Given the description of an element on the screen output the (x, y) to click on. 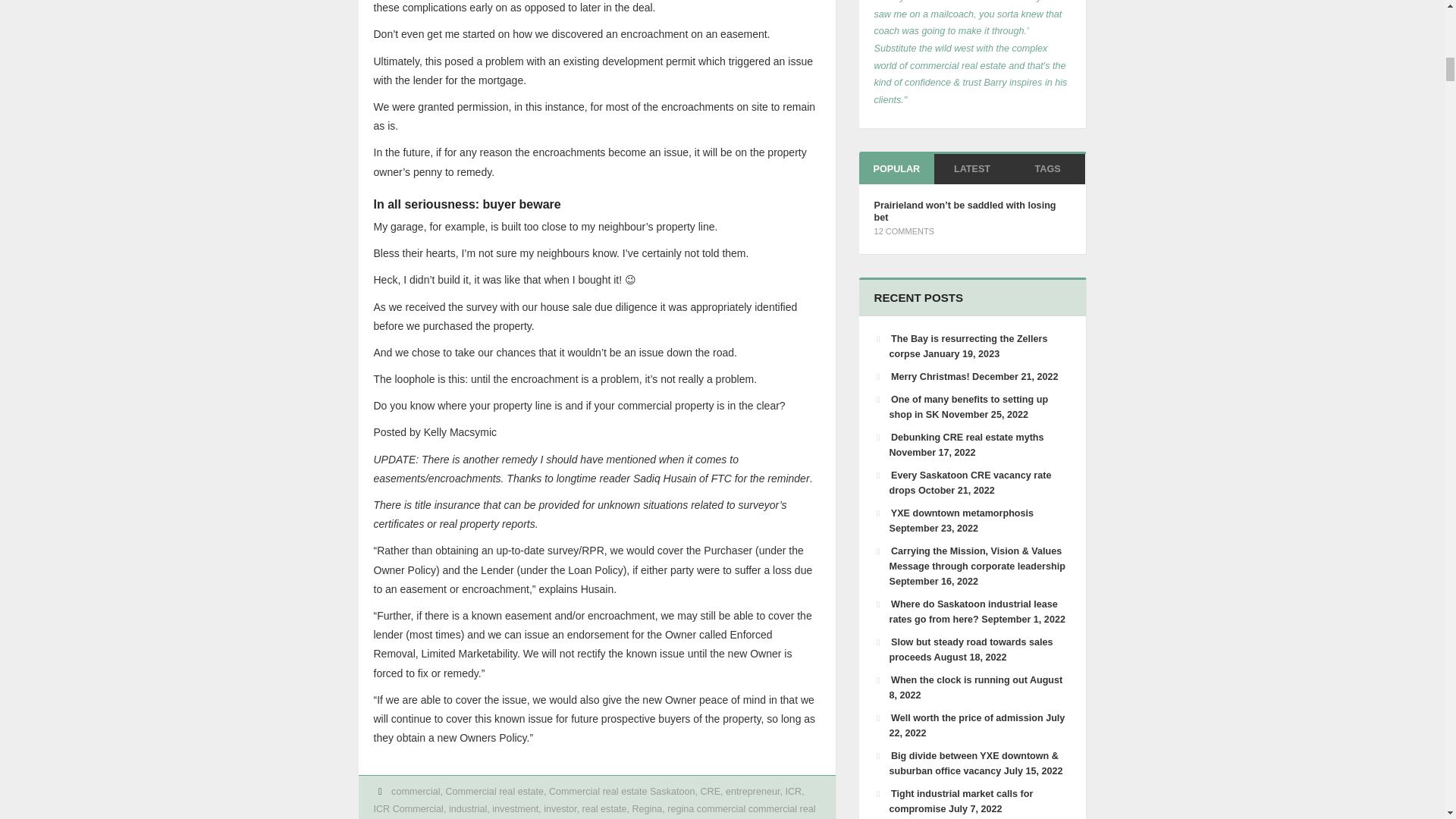
real estate (604, 808)
Regina (646, 808)
ICR (794, 791)
entrepreneur (751, 791)
Commercial real estate Saskatoon (621, 791)
regina commercial commercial real estate (593, 811)
ICR Commercial (407, 808)
Commercial real estate (494, 791)
industrial (467, 808)
commercial (415, 791)
CRE (710, 791)
investment (515, 808)
investor (559, 808)
